Given the description of an element on the screen output the (x, y) to click on. 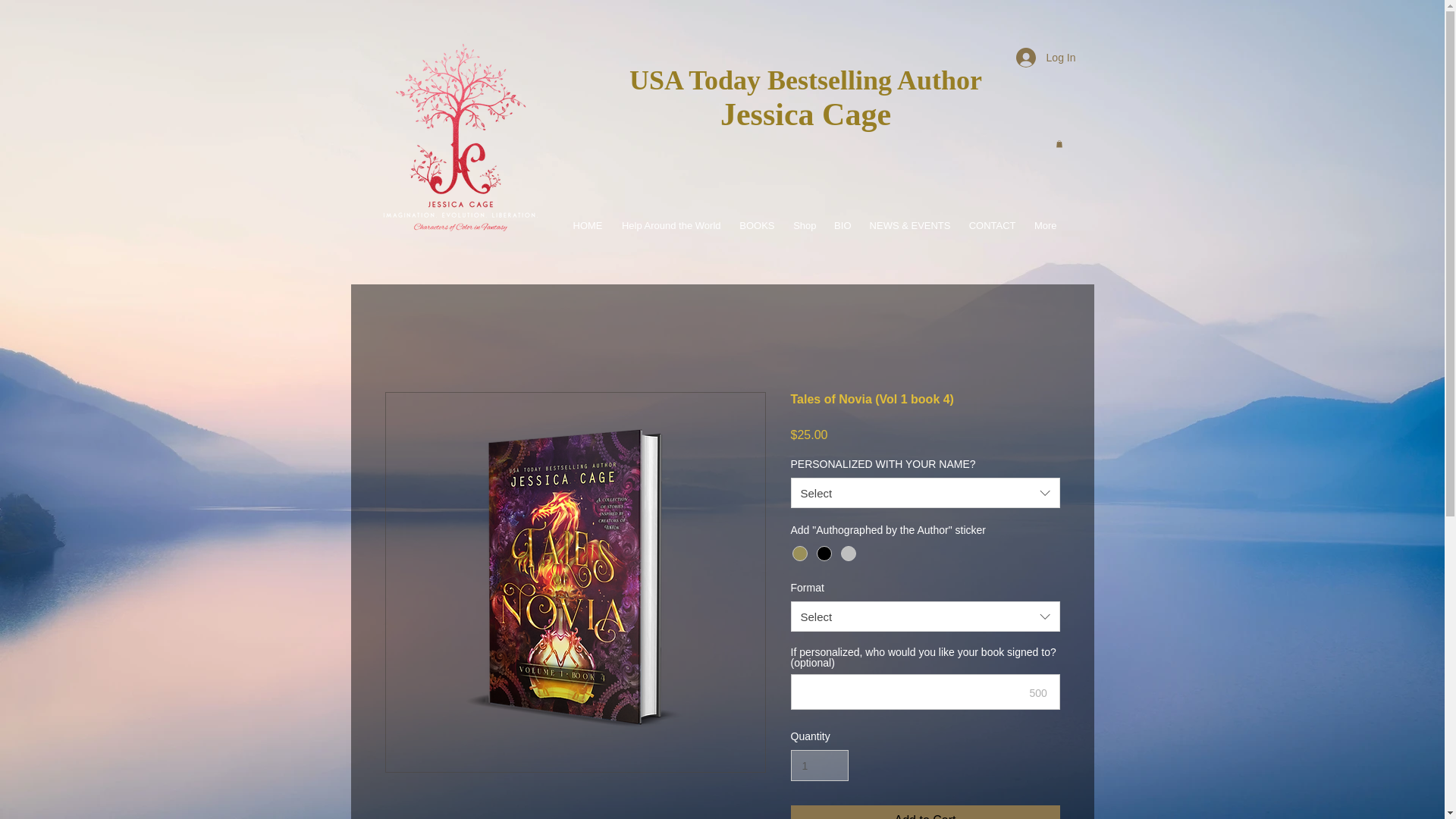
Select (924, 492)
Help Around the World (670, 225)
Log In (1046, 57)
1 (818, 765)
Add to Cart (924, 812)
Select (924, 616)
